Given the description of an element on the screen output the (x, y) to click on. 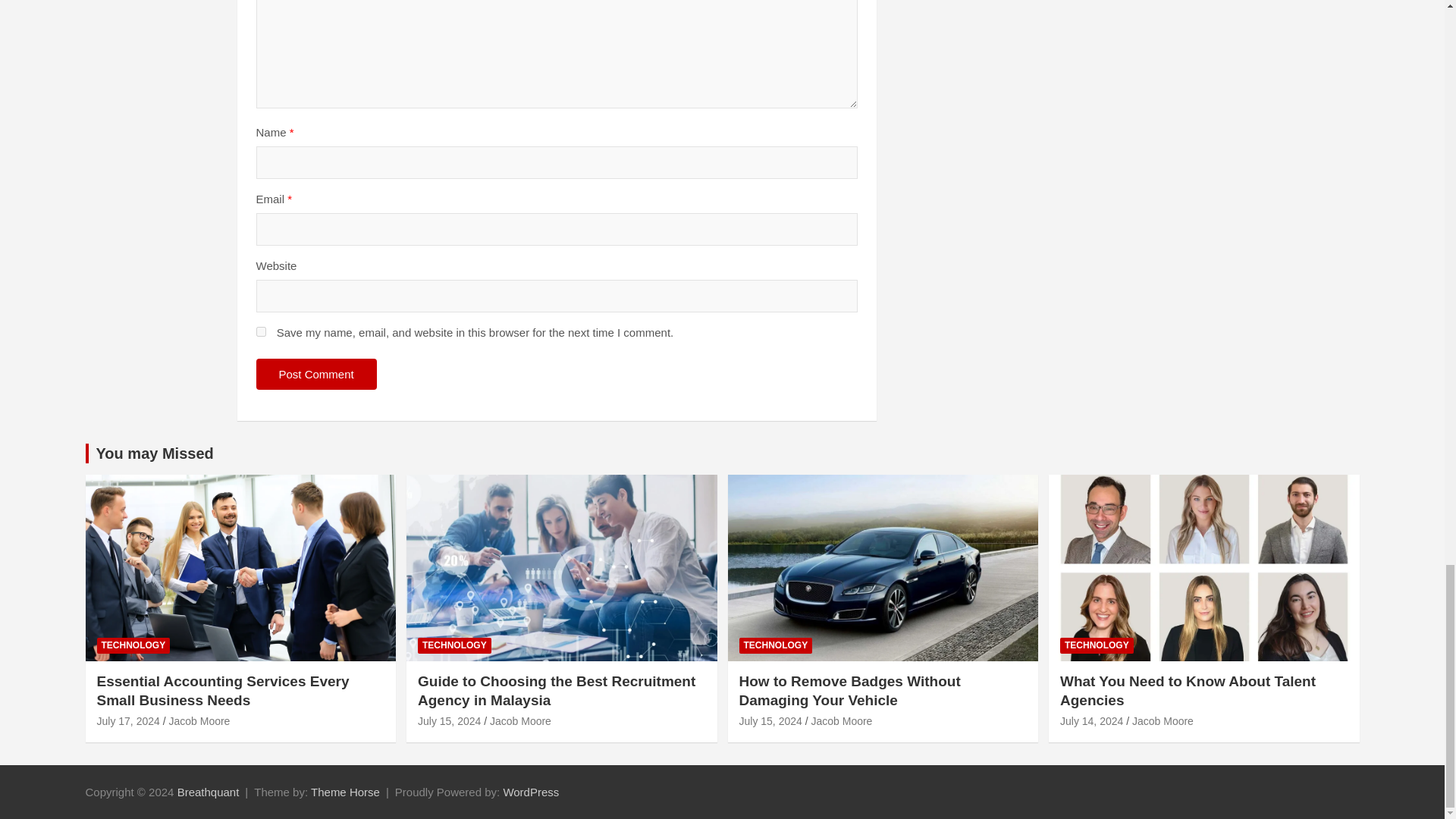
Jacob Moore (199, 720)
WordPress (530, 791)
What You Need to Know About Talent Agencies (1090, 720)
TECHNOLOGY (454, 645)
July 15, 2024 (448, 720)
You may Missed (154, 453)
July 17, 2024 (128, 720)
Guide to Choosing the Best Recruitment Agency in Malaysia (556, 690)
Breathquant (208, 791)
yes (261, 331)
How to Remove Badges Without Damaging Your Vehicle (770, 720)
Post Comment (316, 373)
TECHNOLOGY (133, 645)
Post Comment (316, 373)
Theme Horse (345, 791)
